Given the description of an element on the screen output the (x, y) to click on. 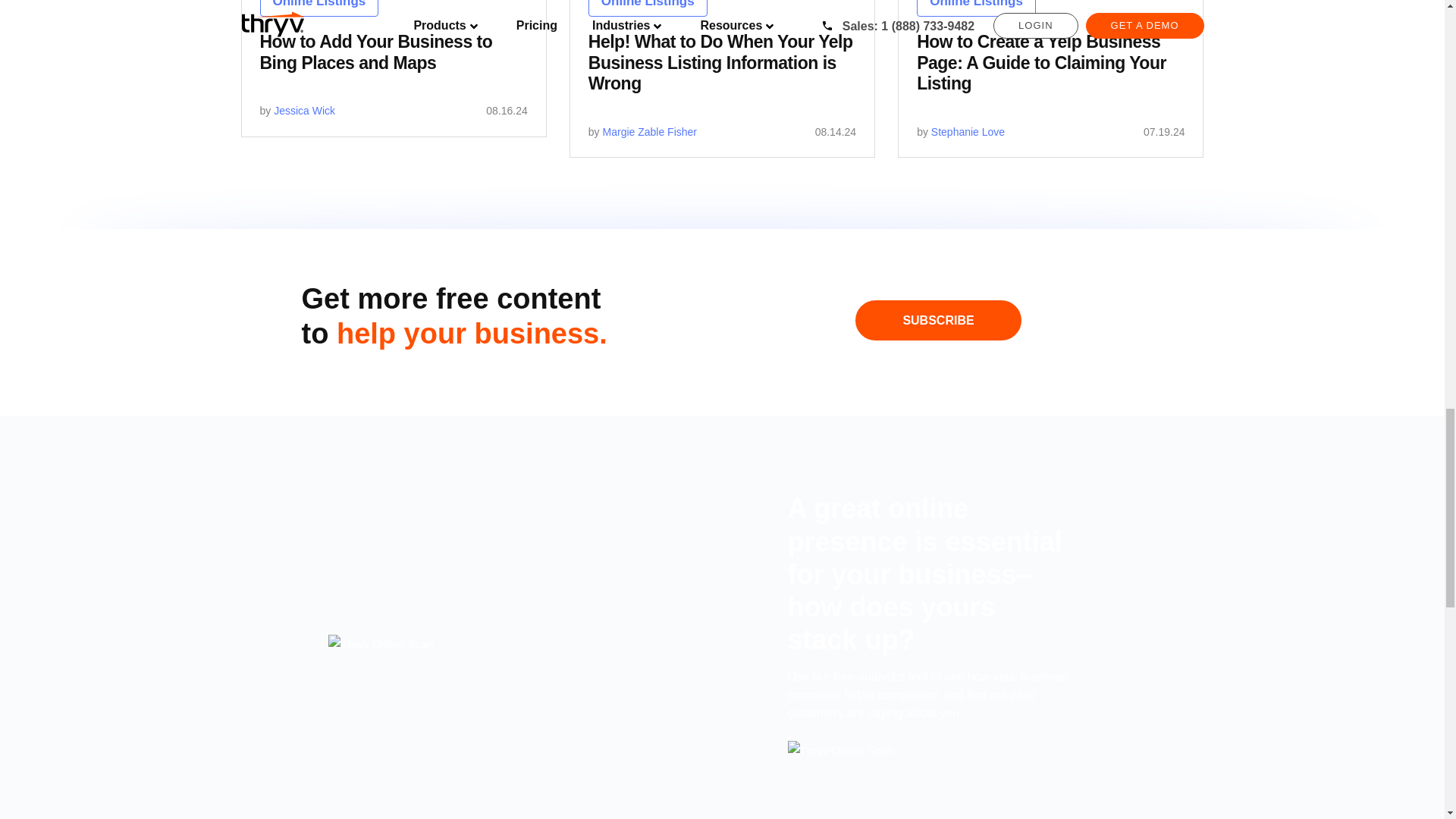
Posts by Margie Zable Fisher (649, 132)
Posts by Stephanie Love (967, 132)
Posts by Jessica Wick (303, 110)
